Given the description of an element on the screen output the (x, y) to click on. 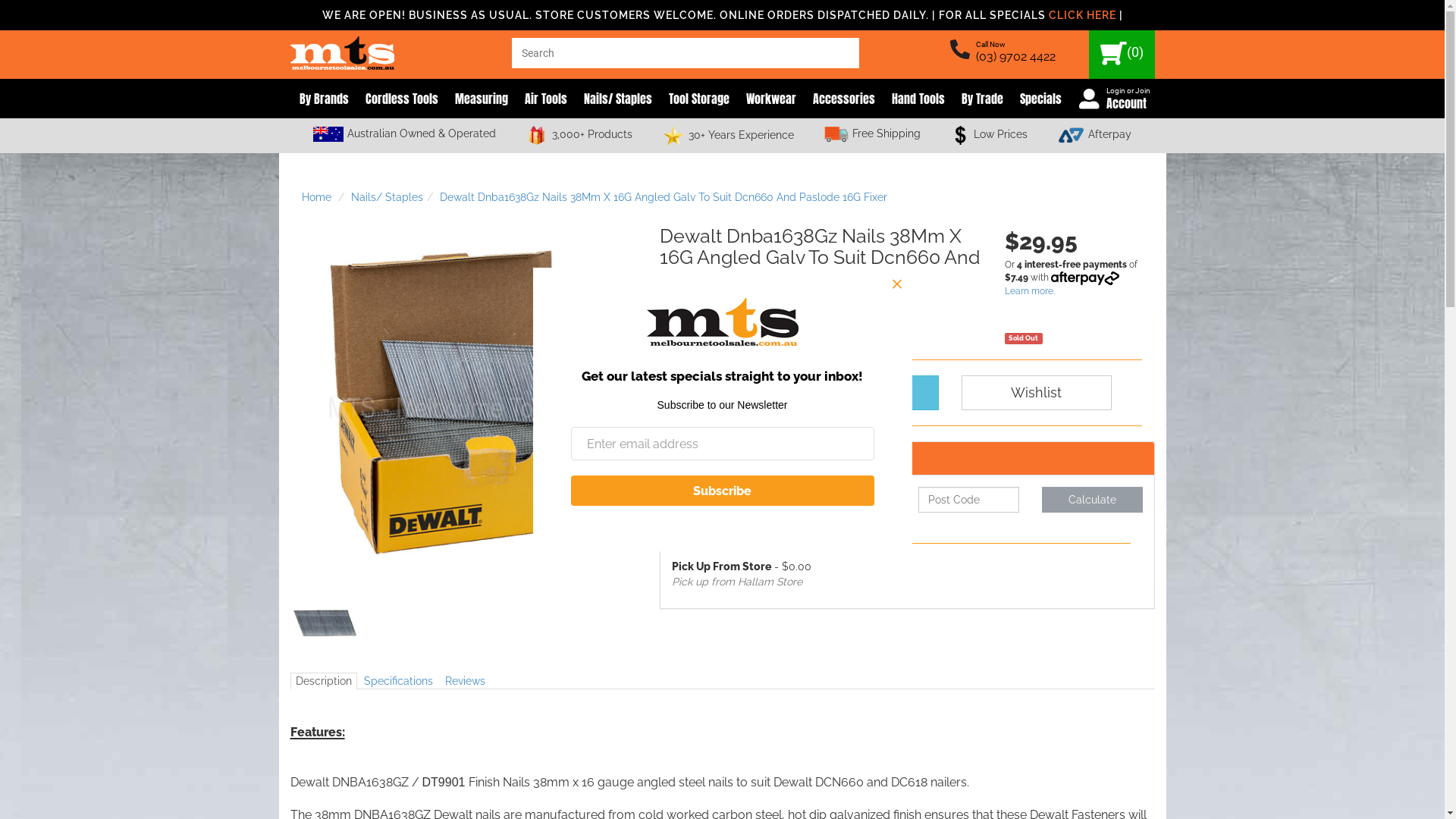
Specifications Element type: text (397, 680)
Accessories Element type: text (843, 98)
Reviews Element type: text (464, 680)
Wishlist Element type: text (1036, 392)
(0) Element type: text (1121, 54)
Nails/ Staples Element type: text (386, 197)
Tool Storage Element type: text (699, 98)
Login or Join
Account Element type: text (1111, 98)
Cordless Tools Element type: text (401, 98)
Workwear Element type: text (770, 98)
By Trade Element type: text (982, 98)
Home Element type: text (316, 197)
By Brands Element type: text (323, 98)
Hand Tools Element type: text (918, 98)
CLICK HERE Element type: text (1081, 15)
Specials Element type: text (1039, 98)
Share: Element type: text (680, 304)
Calculate Element type: text (1091, 499)
(03) 9702 4422 Element type: text (1014, 56)
Measuring Element type: text (481, 98)
Large View Element type: hover (324, 623)
Nails/ Staples Element type: text (617, 98)
Air Tools Element type: text (545, 98)
Learn more. Element type: text (1079, 291)
Search Element type: text (843, 52)
Description Element type: text (322, 680)
Melbourne Tool Sales Element type: hover (341, 49)
Notify Me Element type: text (842, 392)
